Given the description of an element on the screen output the (x, y) to click on. 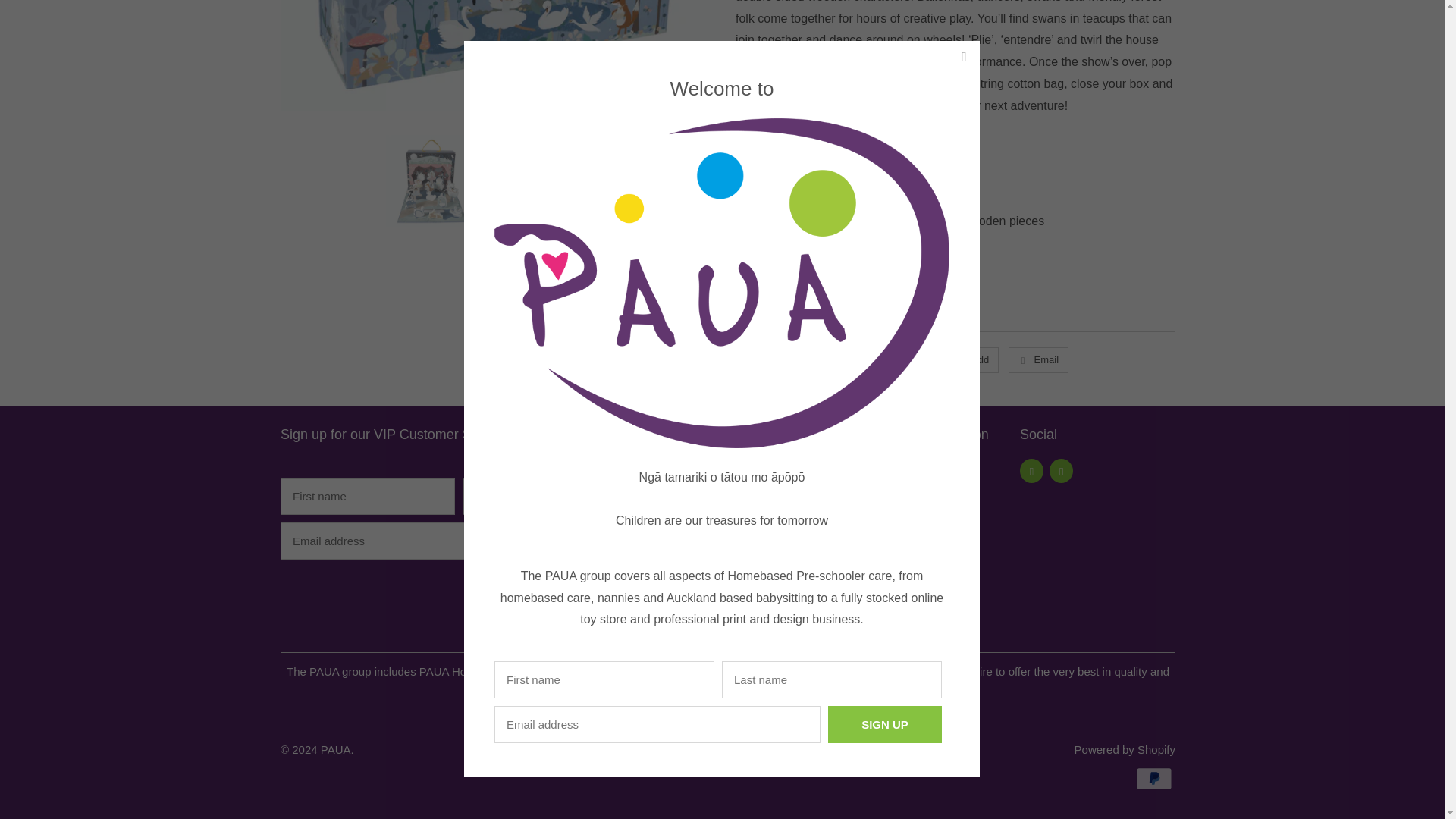
Sign Up (885, 210)
PayPal (1154, 778)
